Given the description of an element on the screen output the (x, y) to click on. 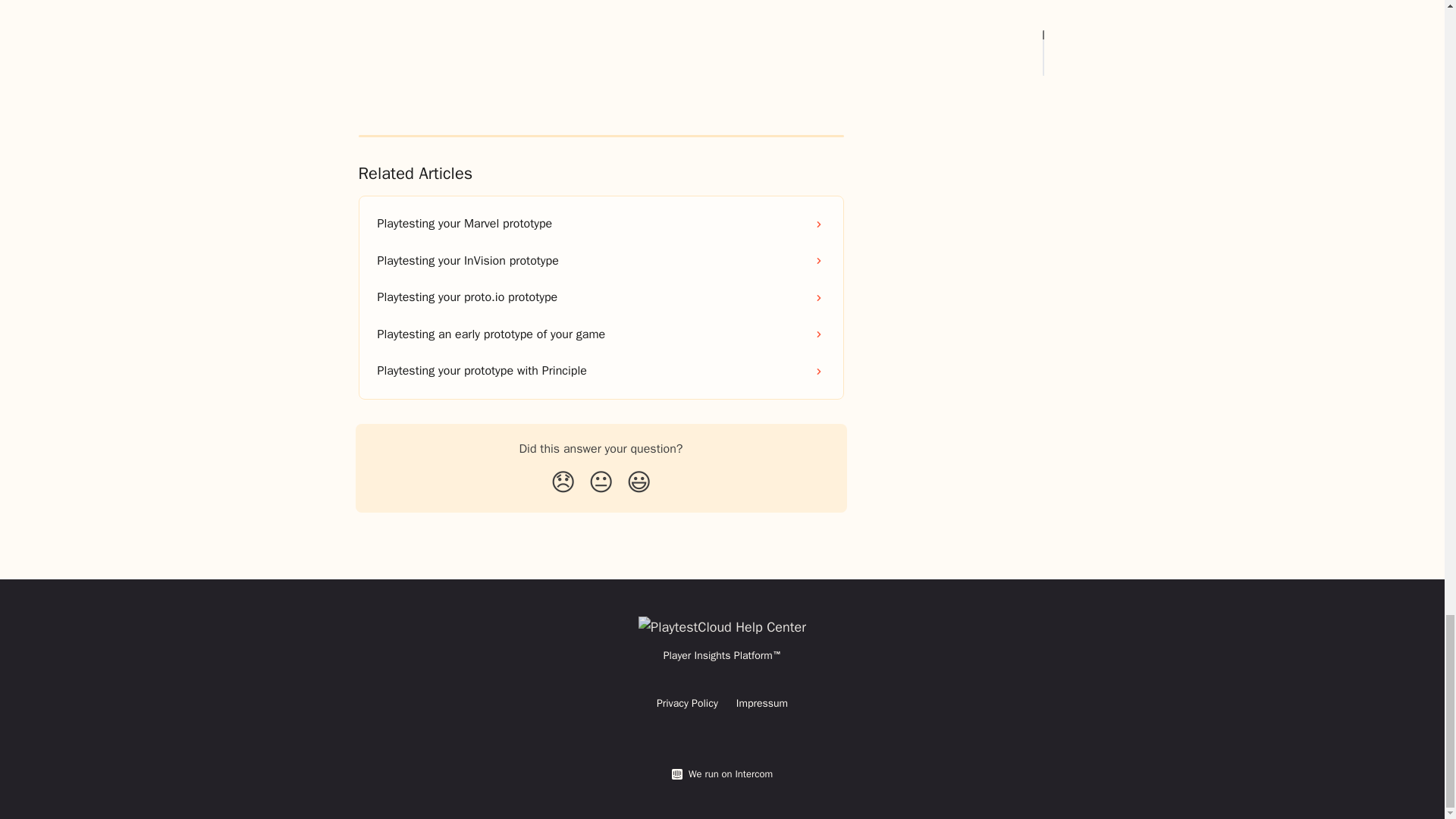
Privacy Policy (686, 703)
Playtesting an early prototype of your game (601, 334)
Playtesting your proto.io prototype (601, 297)
Playtesting your prototype with Principle (601, 370)
We run on Intercom (727, 774)
Playtesting your Marvel prototype (601, 223)
Impressum (761, 703)
Playtesting your InVision prototype (601, 260)
